Given the description of an element on the screen output the (x, y) to click on. 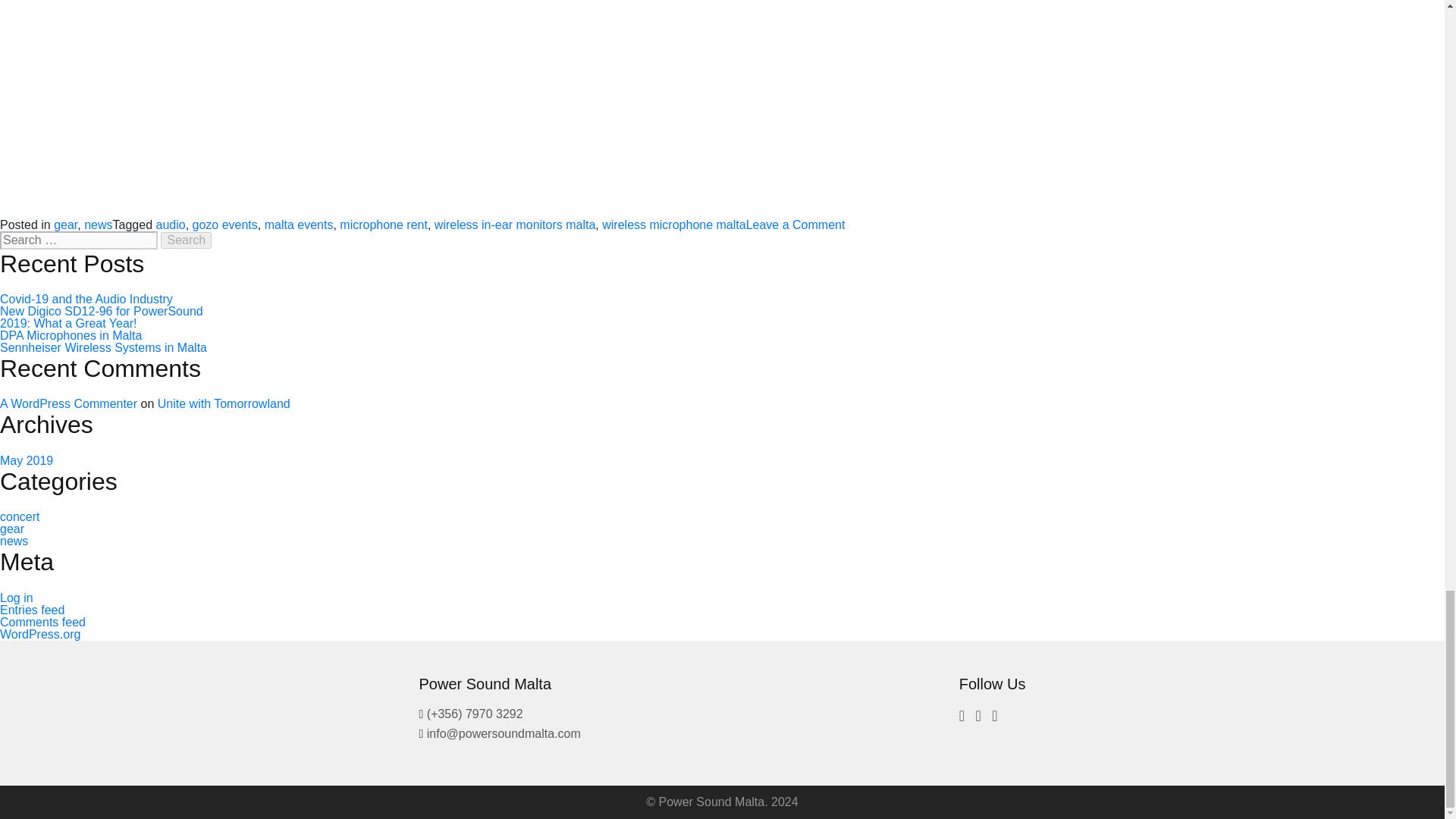
wireless in-ear monitors malta (514, 224)
wireless microphone malta (673, 224)
news (98, 224)
Search (185, 239)
gear (65, 224)
malta events (298, 224)
microphone rent (795, 224)
gozo events (383, 224)
Search (224, 224)
audio (185, 239)
